Given the description of an element on the screen output the (x, y) to click on. 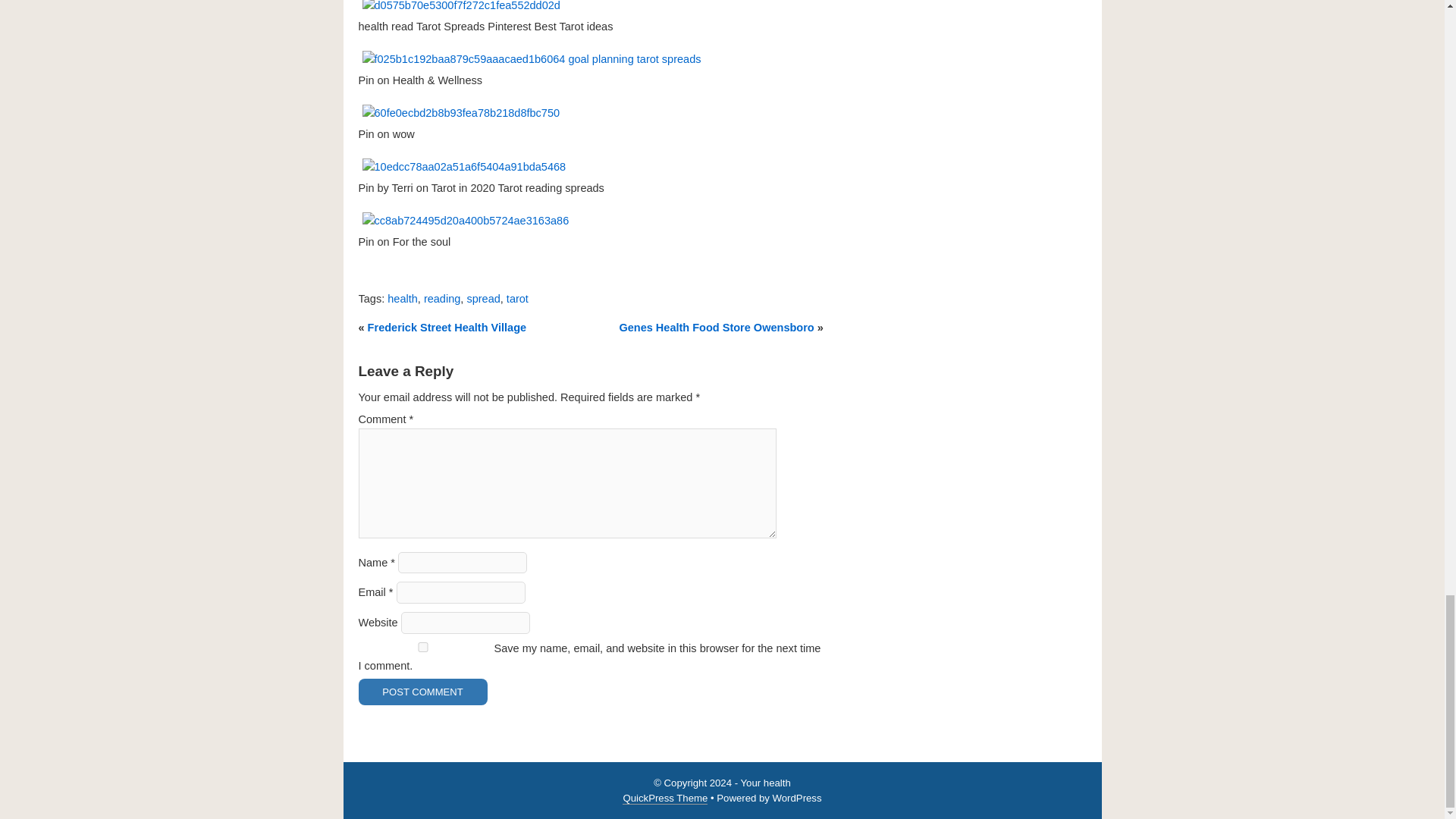
QuickPress Theme (665, 798)
Post Comment (422, 691)
yes (422, 646)
spread (482, 298)
health (402, 298)
reading (441, 298)
Post Comment (422, 691)
Frederick Street Health Village (447, 327)
Genes Health Food Store Owensboro (715, 327)
tarot (517, 298)
